Given the description of an element on the screen output the (x, y) to click on. 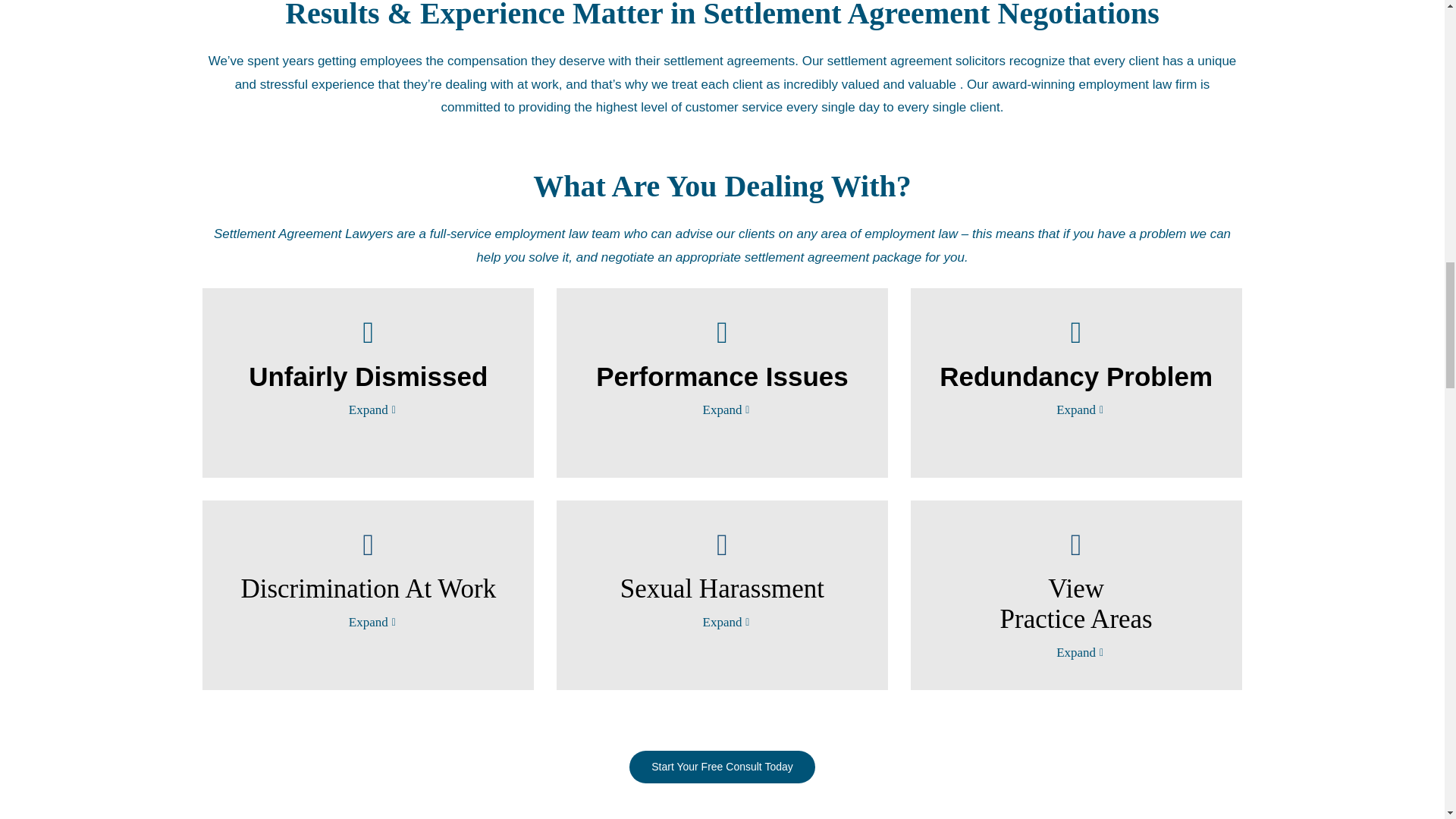
Unfairly Dismissed (367, 353)
Redundancy Problem (1076, 353)
Expand (721, 409)
Expand (1076, 409)
Performance Issues (722, 353)
Expand (368, 409)
